Given the description of an element on the screen output the (x, y) to click on. 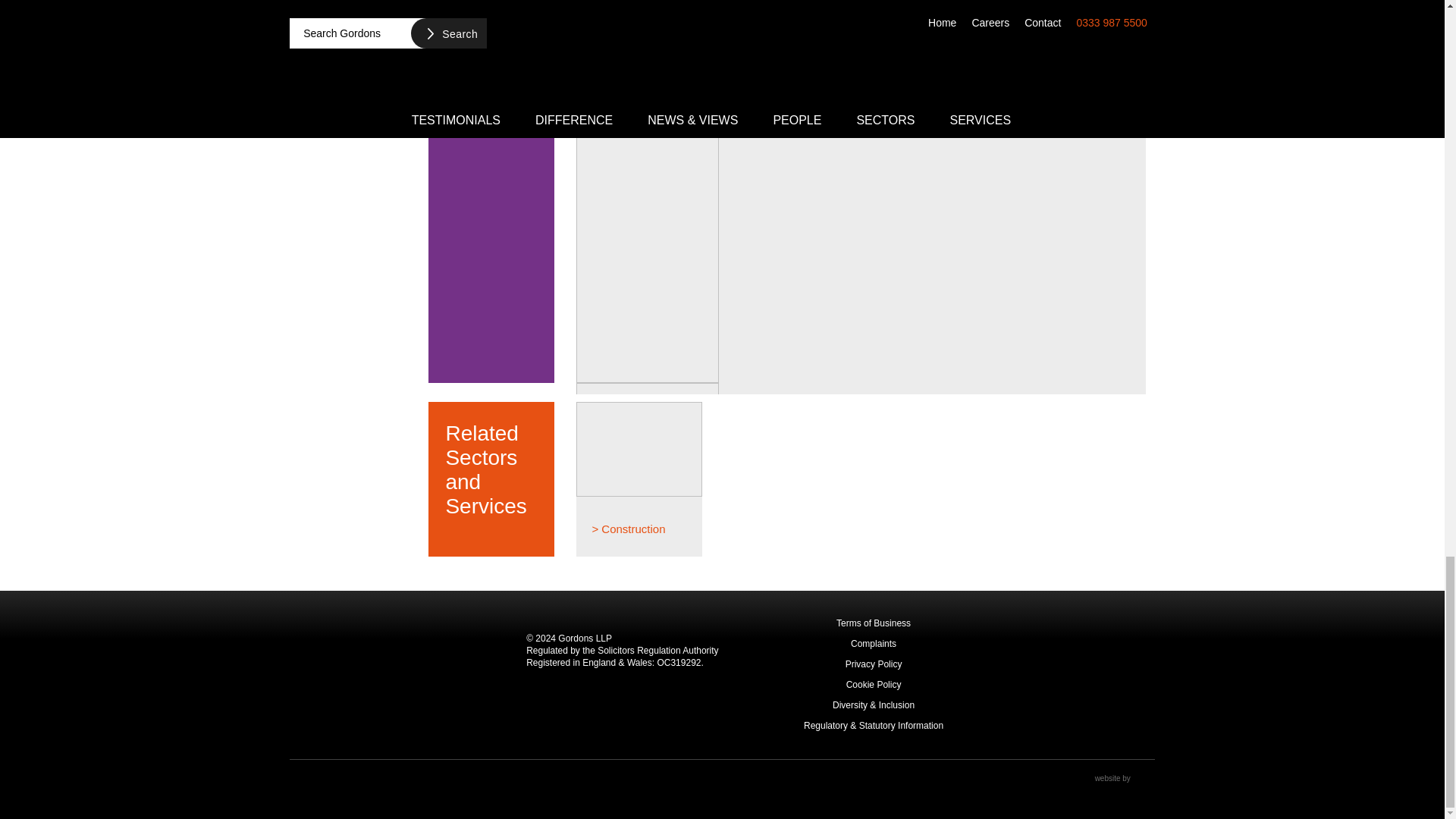
Our people (489, 39)
Call 0333 987 5545 (1039, 32)
Read more (776, 87)
Connor Mennell (794, 7)
